Given the description of an element on the screen output the (x, y) to click on. 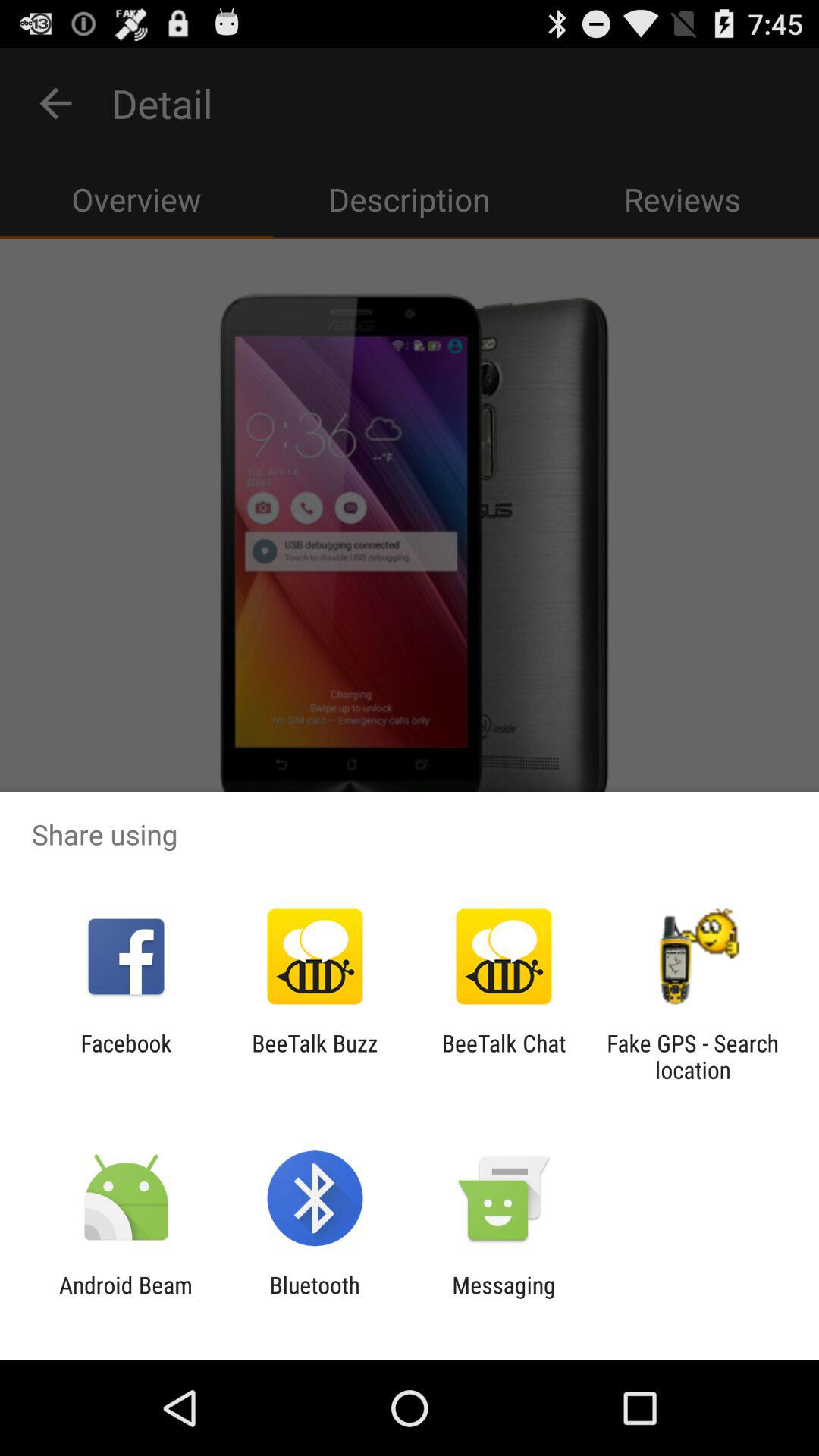
press app to the right of facebook app (314, 1056)
